Given the description of an element on the screen output the (x, y) to click on. 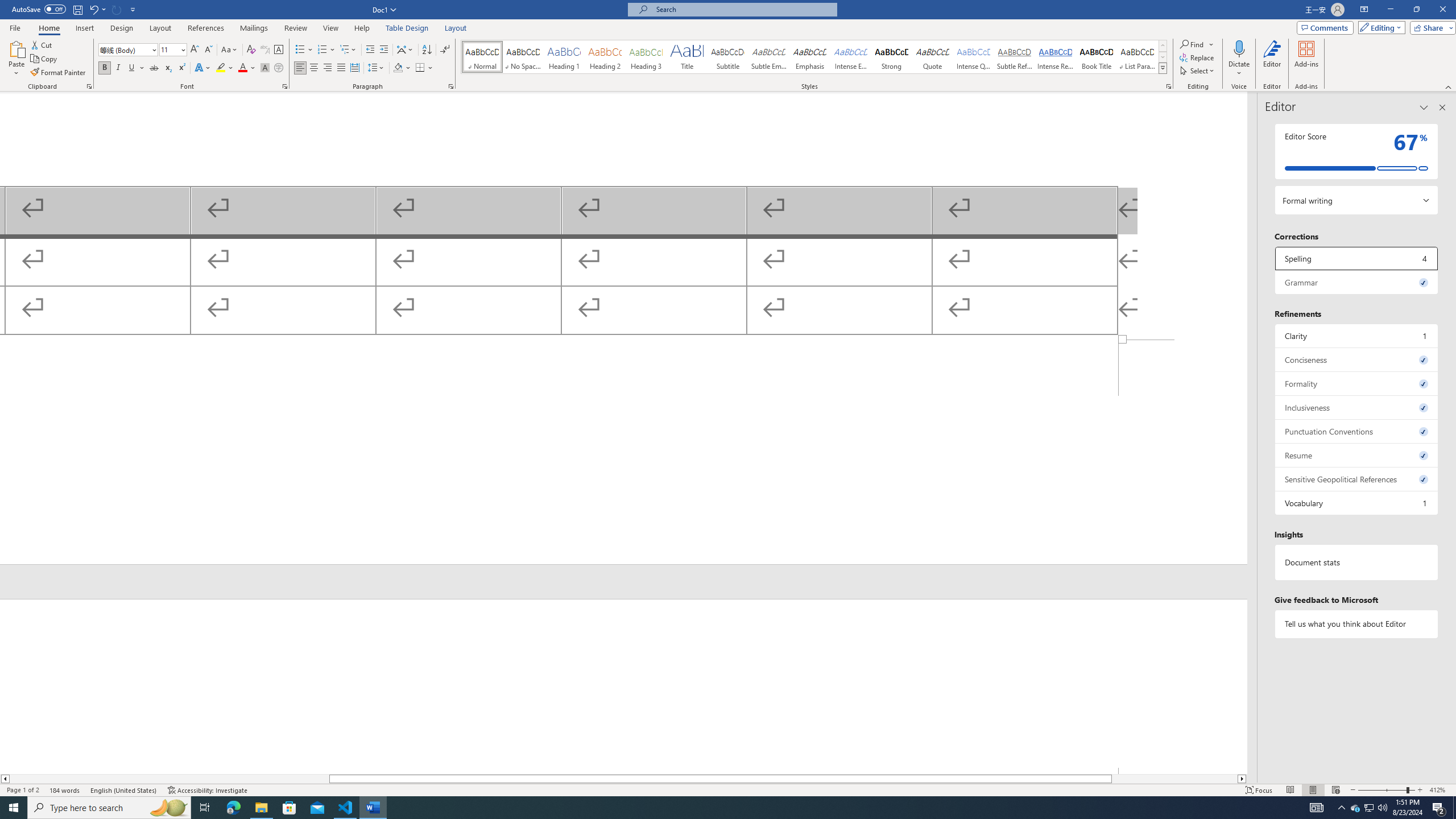
Line and Paragraph Spacing (376, 67)
Change Case (229, 49)
Document statistics (1356, 561)
Can't Repeat (117, 9)
Class: NetUIScrollBar (1251, 432)
Zoom (1386, 790)
Language English (United States) (123, 790)
Heading 3 (646, 56)
Formality, 0 issues. Press space or enter to review items. (1356, 383)
Tell us what you think about Editor (1356, 624)
